Given the description of an element on the screen output the (x, y) to click on. 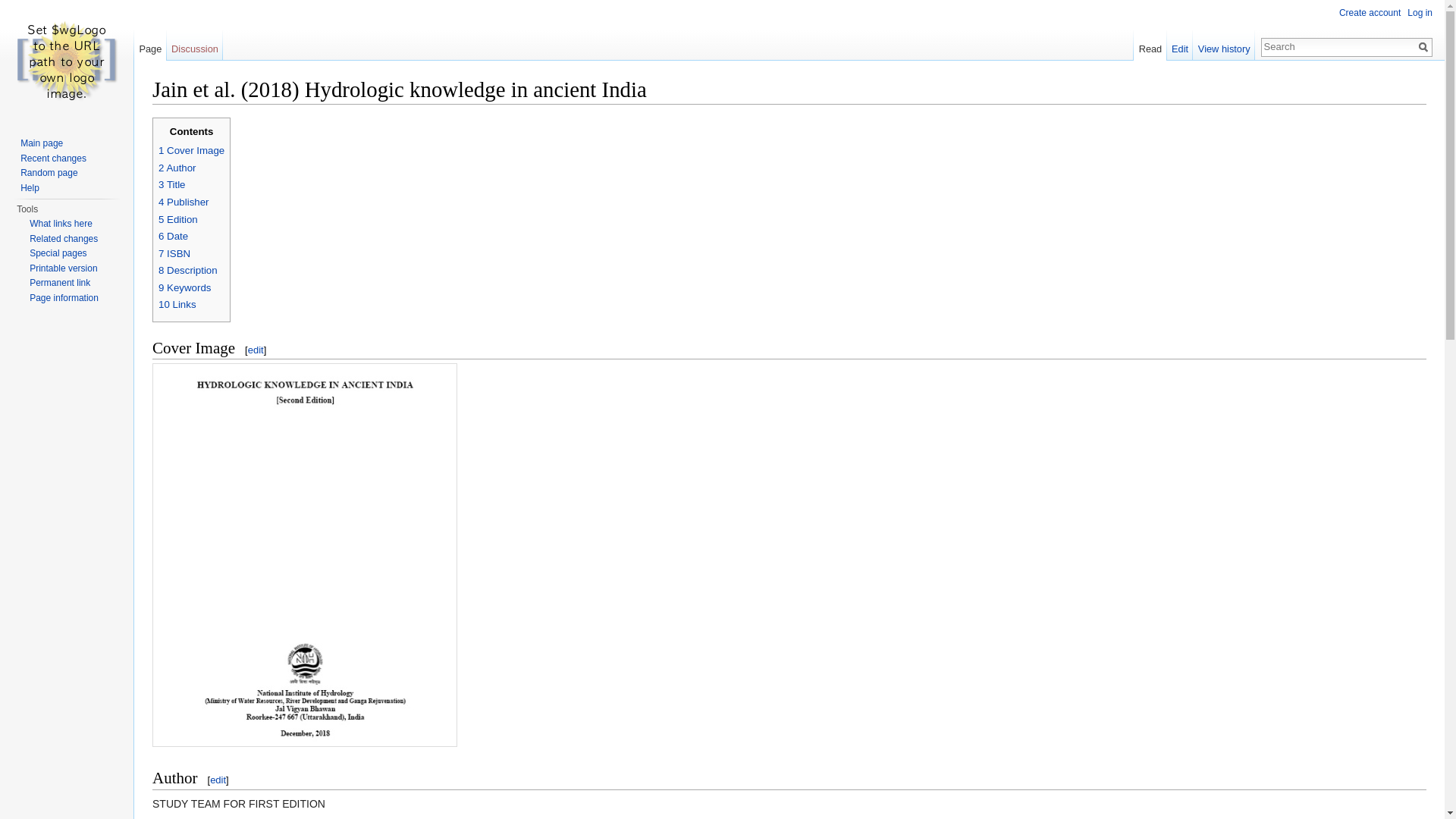
Create account (1369, 12)
10 Links (177, 304)
Search (1423, 46)
Edit section: Author (217, 779)
Edit section: Cover Image (255, 349)
Search (1423, 46)
1 Cover Image (191, 150)
View history (1223, 45)
6 Date (172, 235)
edit (217, 779)
